Given the description of an element on the screen output the (x, y) to click on. 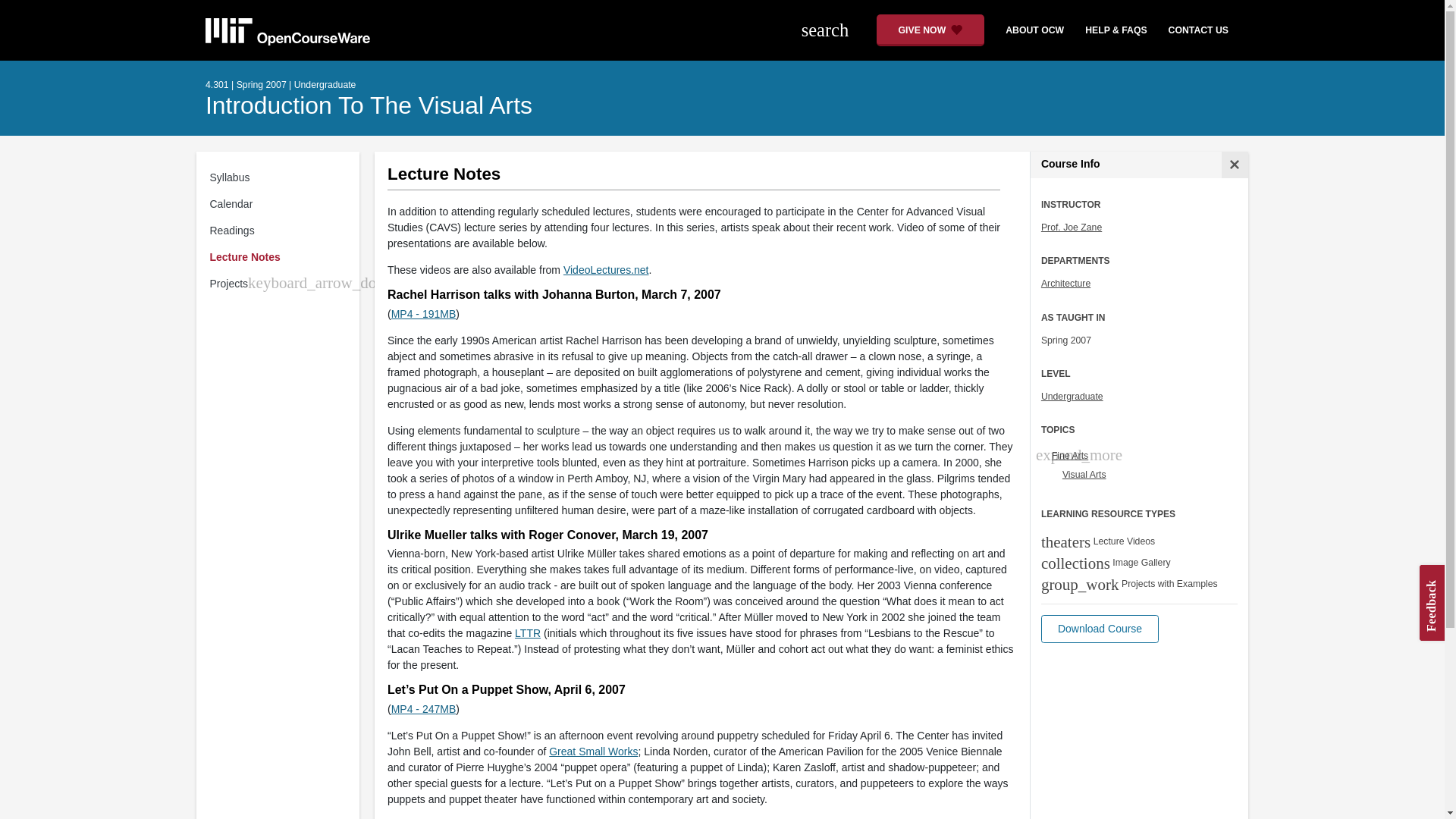
Projects (228, 284)
Calendar (281, 203)
VideoLectures.net (606, 269)
search (833, 30)
Lecture Notes (281, 257)
Syllabus (281, 177)
Readings (281, 230)
Introduction To The Visual Arts (368, 104)
GIVE NOW (930, 29)
CONTACT US (1198, 30)
ABOUT OCW (1029, 30)
